Given the description of an element on the screen output the (x, y) to click on. 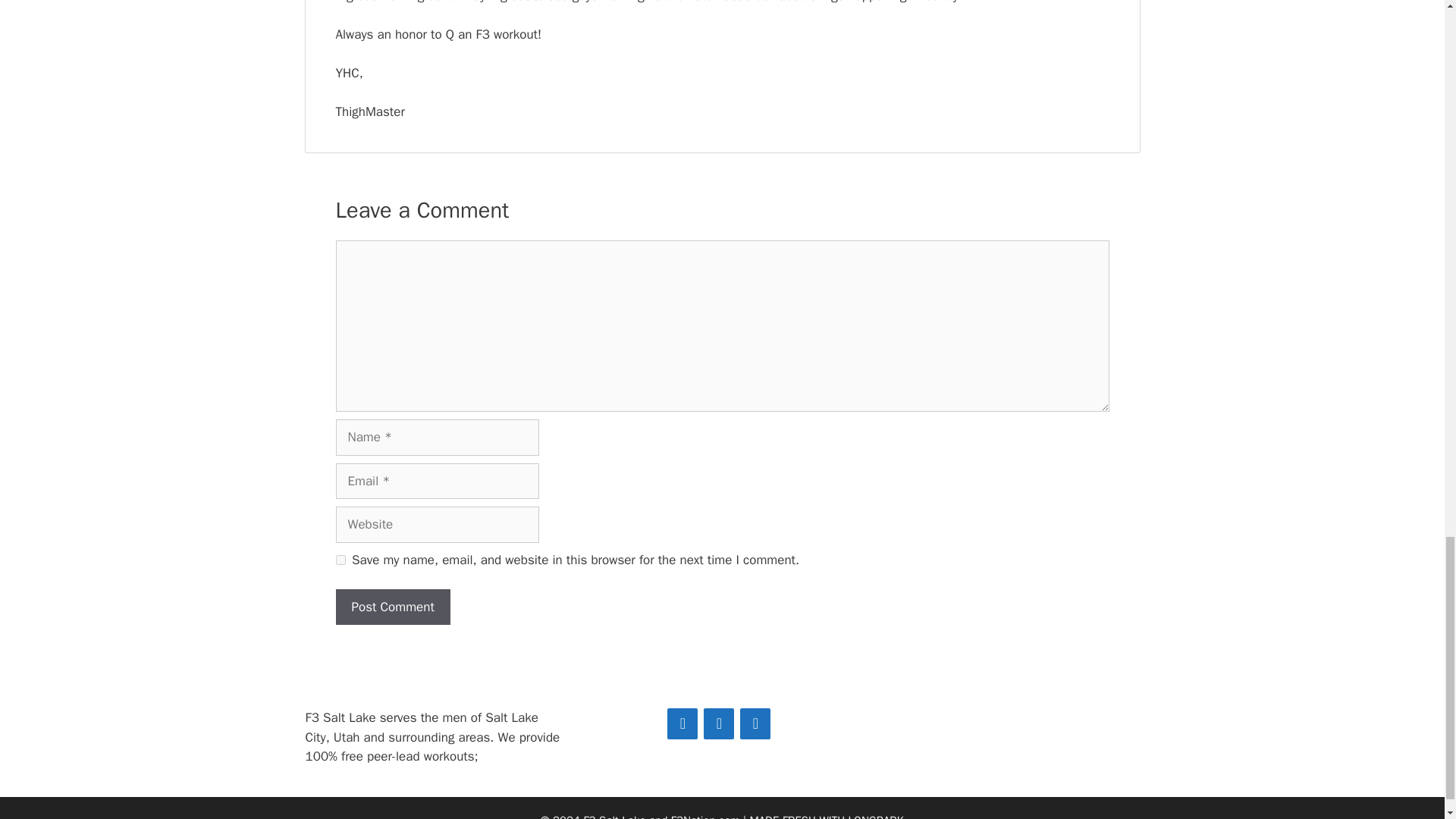
Instagram (754, 723)
yes (339, 560)
Facebook (681, 723)
Twitter (718, 723)
Post Comment (391, 606)
